Given the description of an element on the screen output the (x, y) to click on. 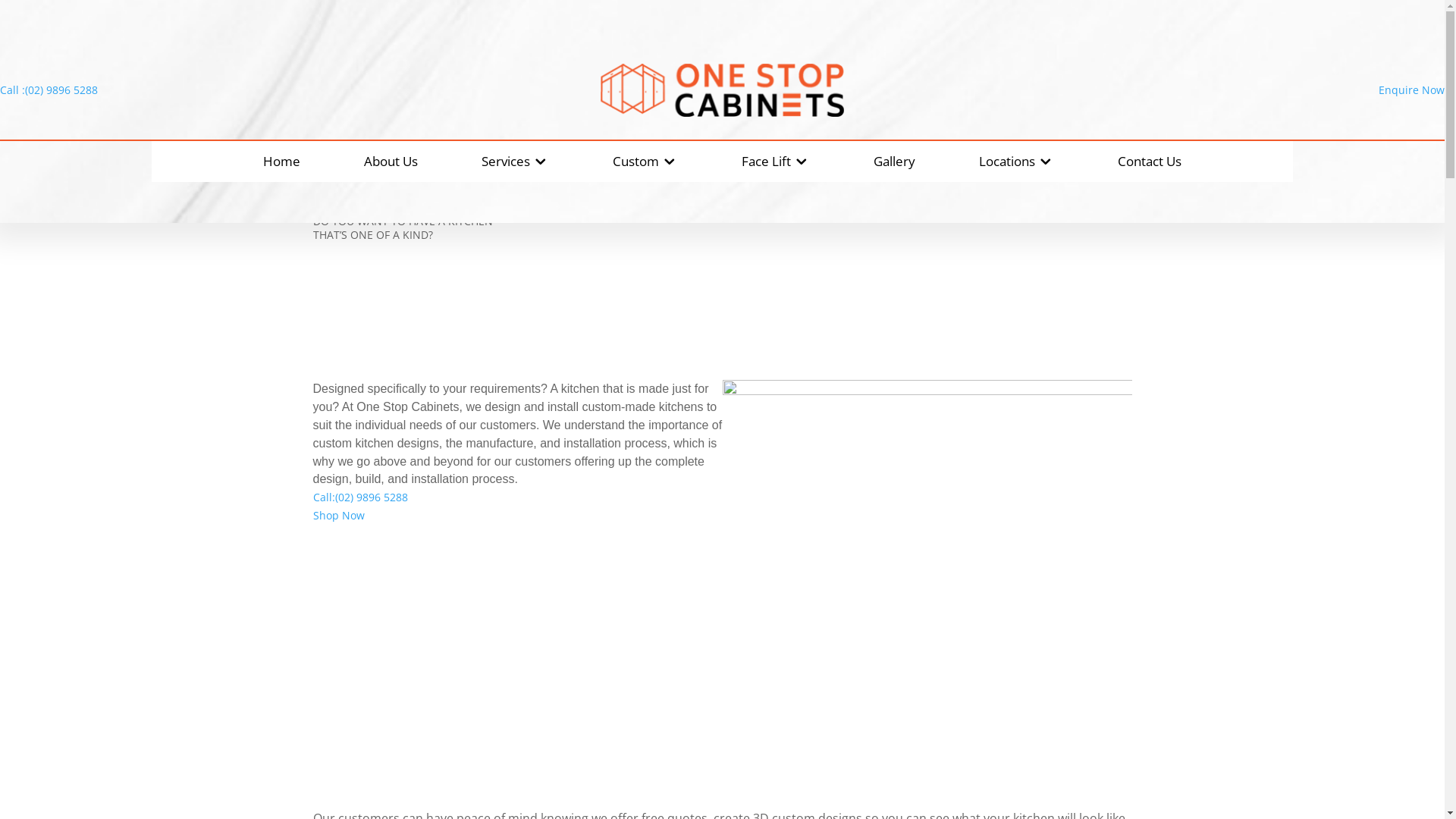
Call:0491 299 528 Element type: text (765, 416)
Submit Element type: text (743, 418)
Call:(02) 9896 5288 Element type: text (359, 496)
IMG-20200413-WA0002-1920w Element type: hover (926, 533)
Call :(02) 9896 5288 Element type: text (48, 89)
Face Lift Element type: text (775, 161)
Home Element type: text (281, 161)
Locations Element type: text (1016, 161)
Shop Now Element type: text (338, 515)
OSC_Logo Element type: hover (722, 89)
Custom Element type: text (644, 161)
Contact Us Element type: text (1149, 161)
Enquire Now Element type: text (1411, 89)
Call:(02) 9896 5288 Element type: text (768, 416)
Gallery Element type: text (894, 161)
About Us Element type: text (390, 161)
Services Element type: text (515, 161)
